Given the description of an element on the screen output the (x, y) to click on. 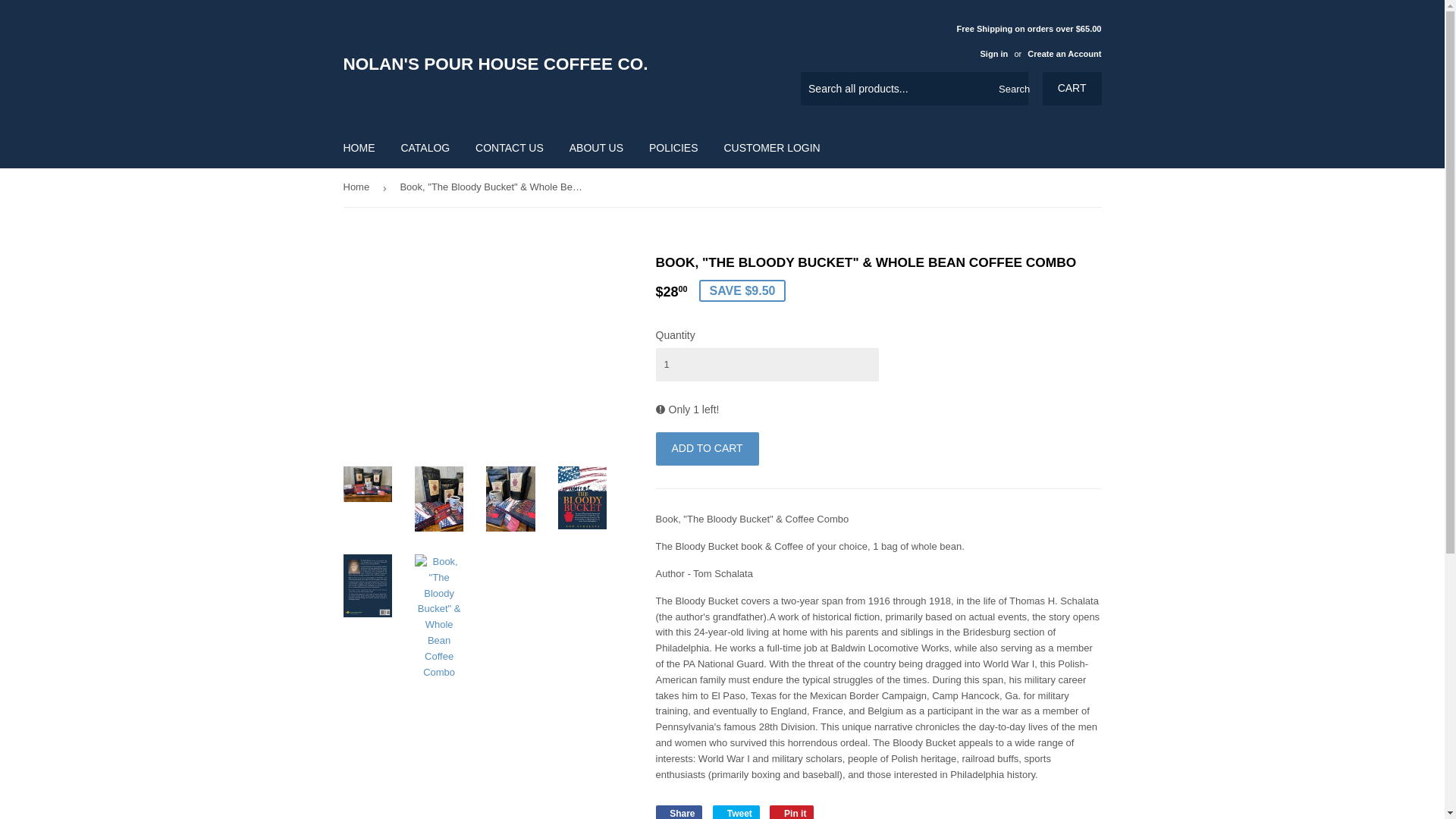
ADD TO CART (706, 449)
1 (766, 364)
CUSTOMER LOGIN (771, 147)
Sign in (993, 53)
CATALOG (424, 147)
Share on Facebook (736, 812)
NOLAN'S POUR HOUSE COFFEE CO. (678, 812)
Pin on Pinterest (532, 64)
Tweet on Twitter (791, 812)
Search (736, 812)
HOME (1010, 89)
CART (359, 147)
